Given the description of an element on the screen output the (x, y) to click on. 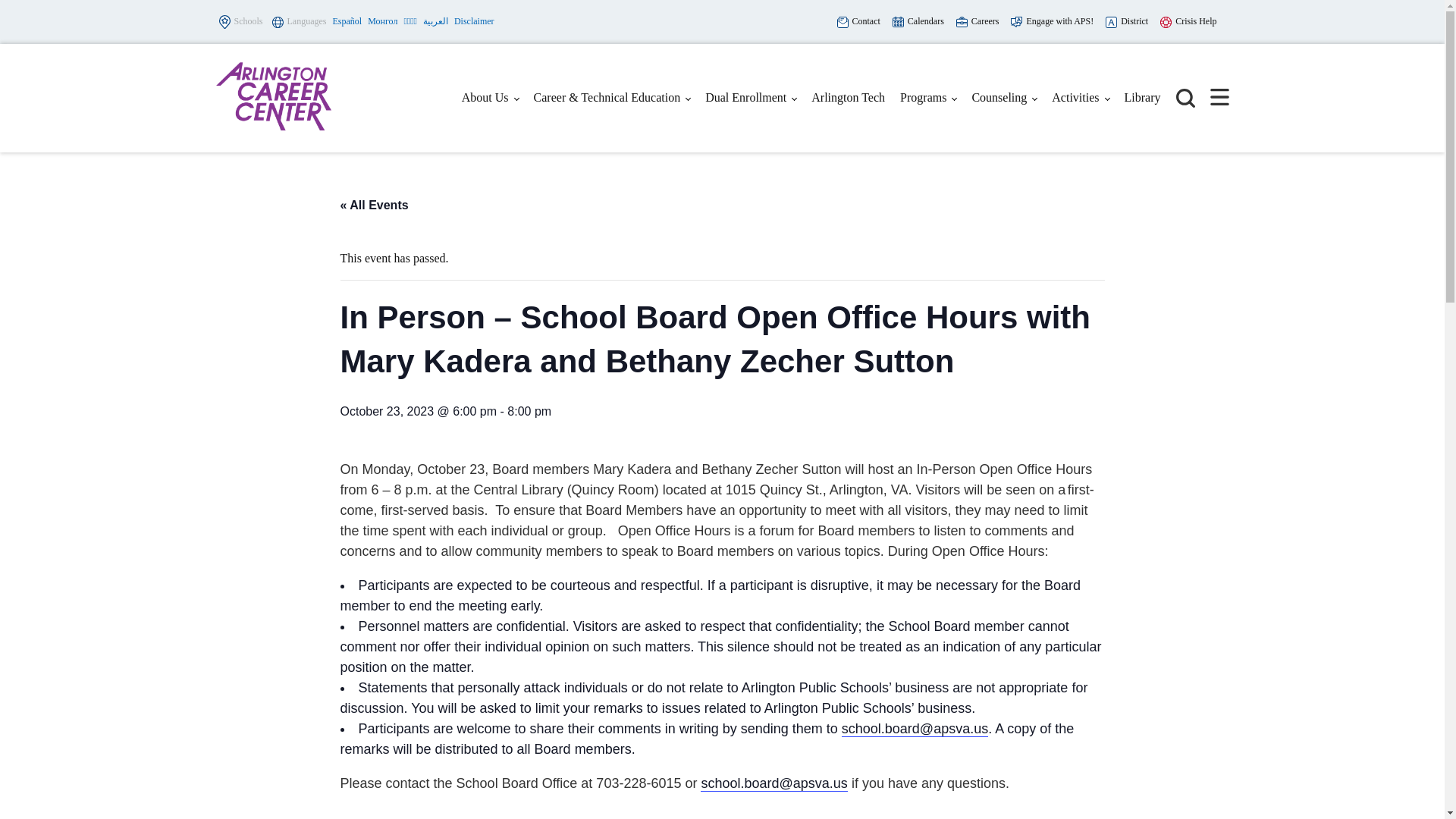
Contact (858, 21)
Disclaimer (474, 21)
Calendars (917, 21)
Engage with APS! (1051, 21)
District (1126, 21)
Schools (239, 21)
Crisis Help (1187, 21)
Languages (299, 22)
Careers (977, 21)
